Given the description of an element on the screen output the (x, y) to click on. 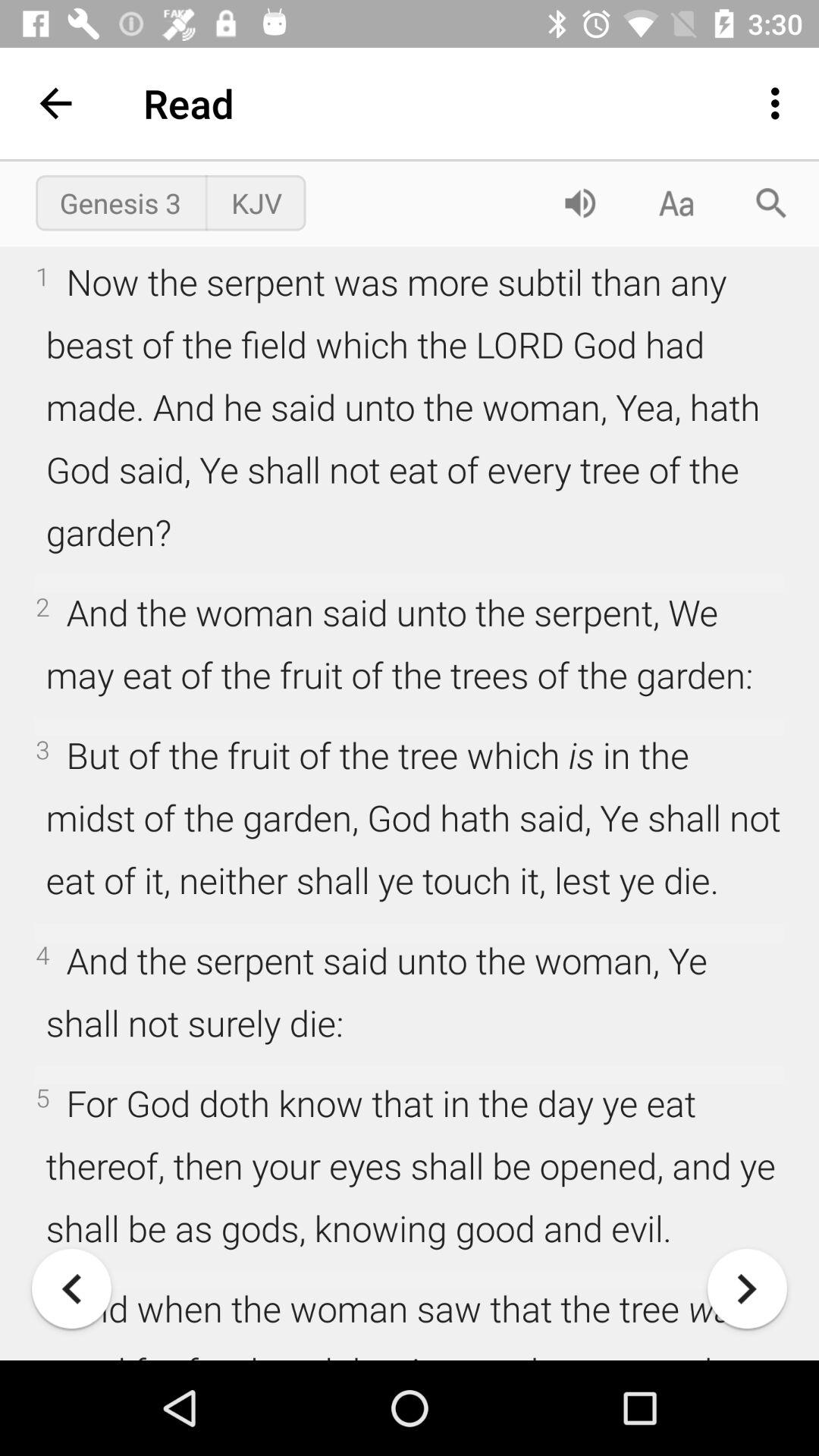
turn speakers on (579, 202)
